Given the description of an element on the screen output the (x, y) to click on. 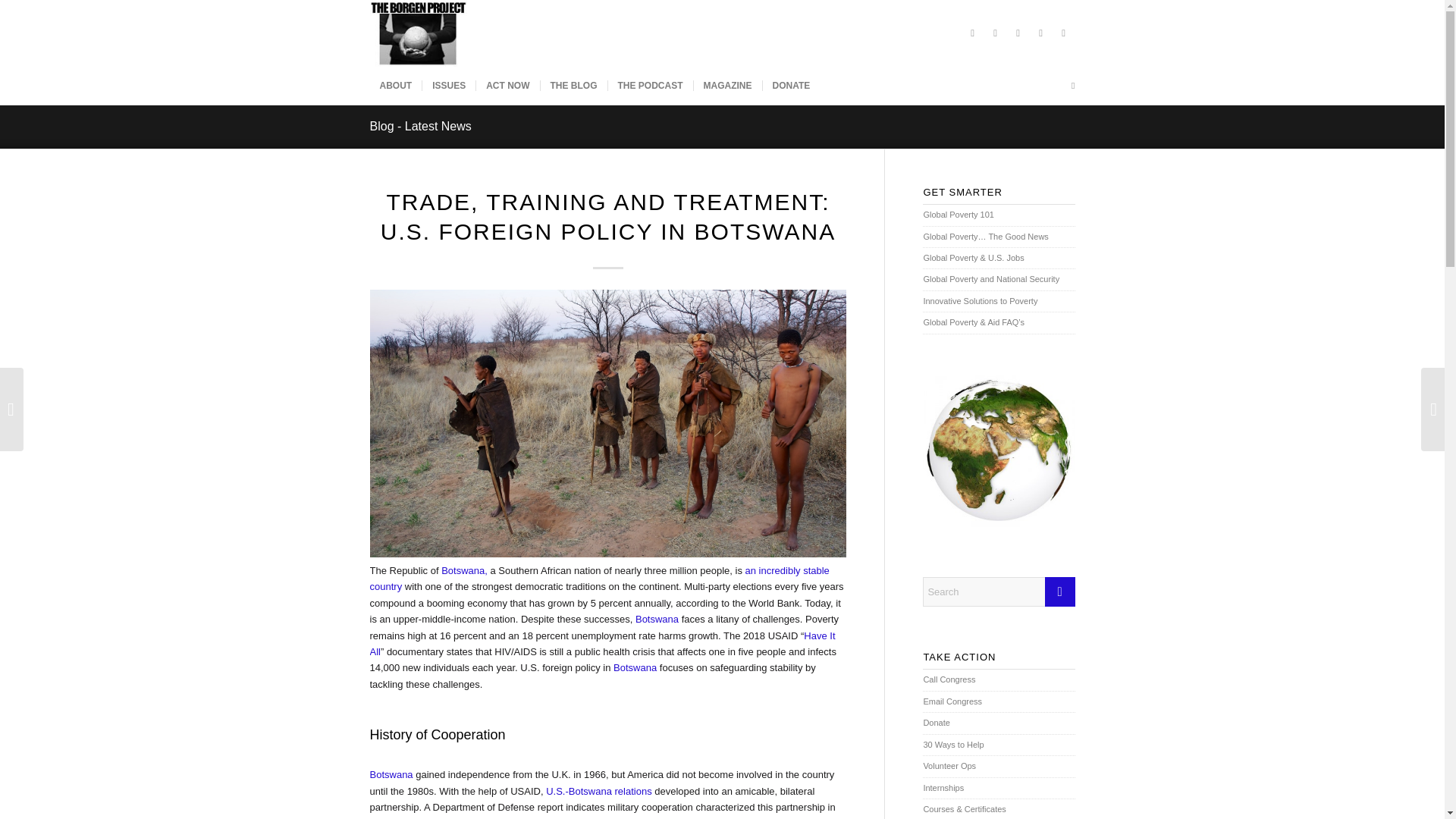
Youtube (1063, 33)
X (972, 33)
logo (418, 33)
ABOUT (395, 85)
Facebook (995, 33)
ACT NOW (507, 85)
Permanent Link: Blog - Latest News (420, 125)
Instagram (1018, 33)
ISSUES (449, 85)
TikTok (1040, 33)
